Given the description of an element on the screen output the (x, y) to click on. 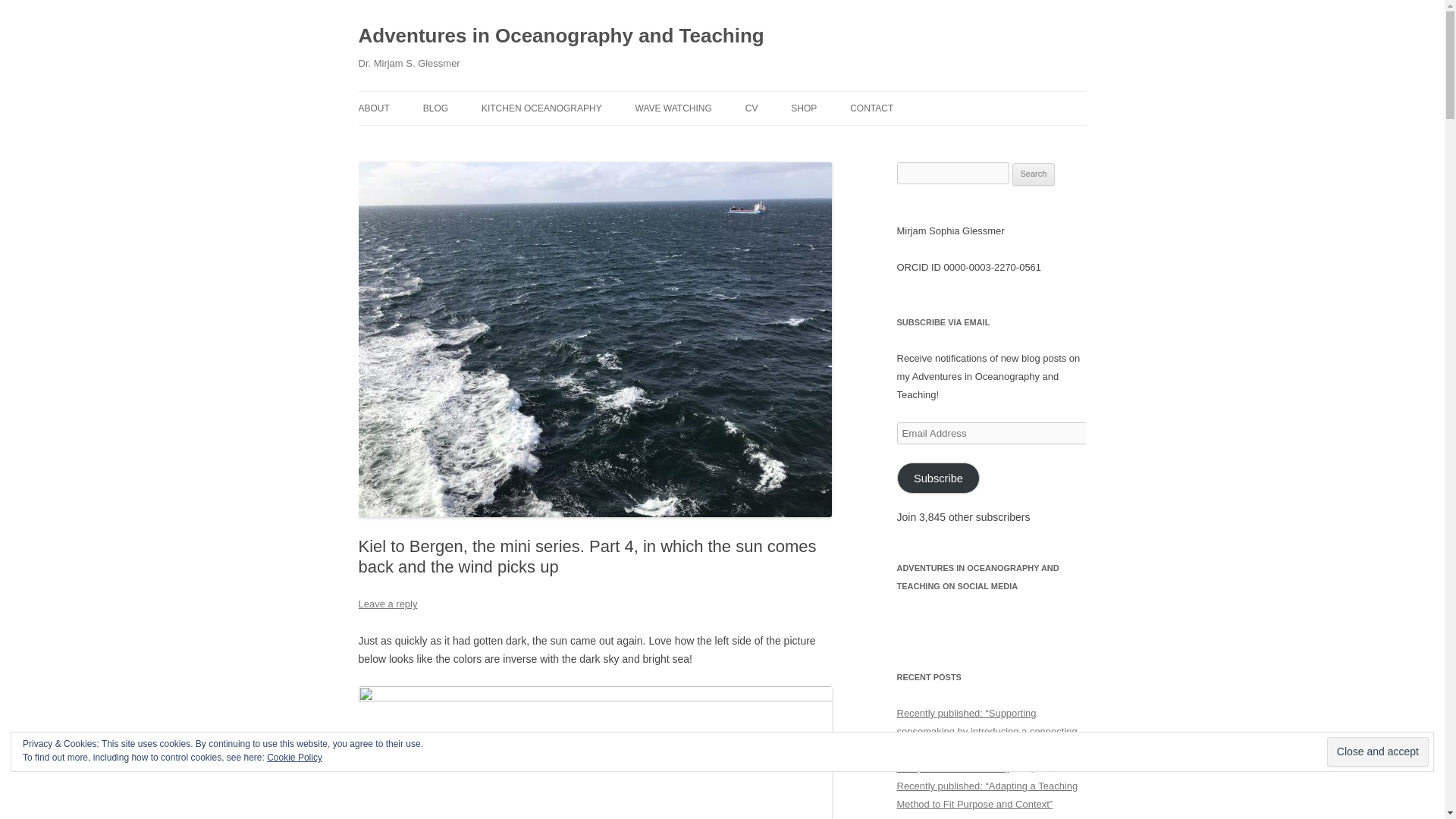
KITCHEN OCEANOGRAPHY (541, 108)
ABOUT (373, 108)
BLOG (499, 140)
CONTACT (871, 108)
Leave a reply (387, 603)
Close and accept (1377, 751)
Search (1033, 173)
Adventures in Oceanography and Teaching (560, 36)
WAVE WATCHING (672, 108)
